Given the description of an element on the screen output the (x, y) to click on. 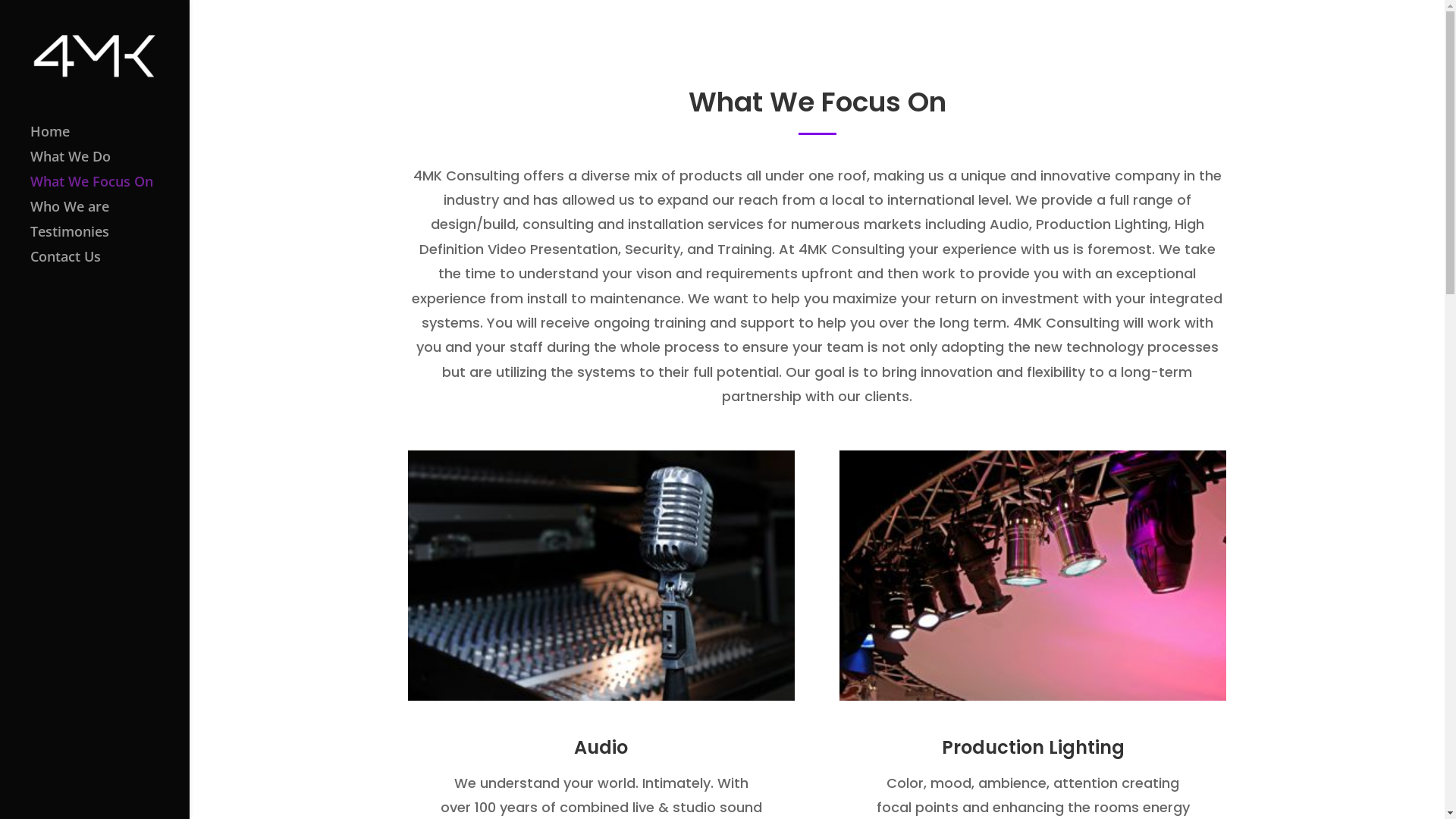
What We Do Element type: text (109, 162)
Home Element type: text (109, 137)
What We Focus On Element type: text (109, 187)
Contact Us Element type: text (109, 263)
Testimonies Element type: text (109, 238)
Who We are Element type: text (109, 212)
